Given the description of an element on the screen output the (x, y) to click on. 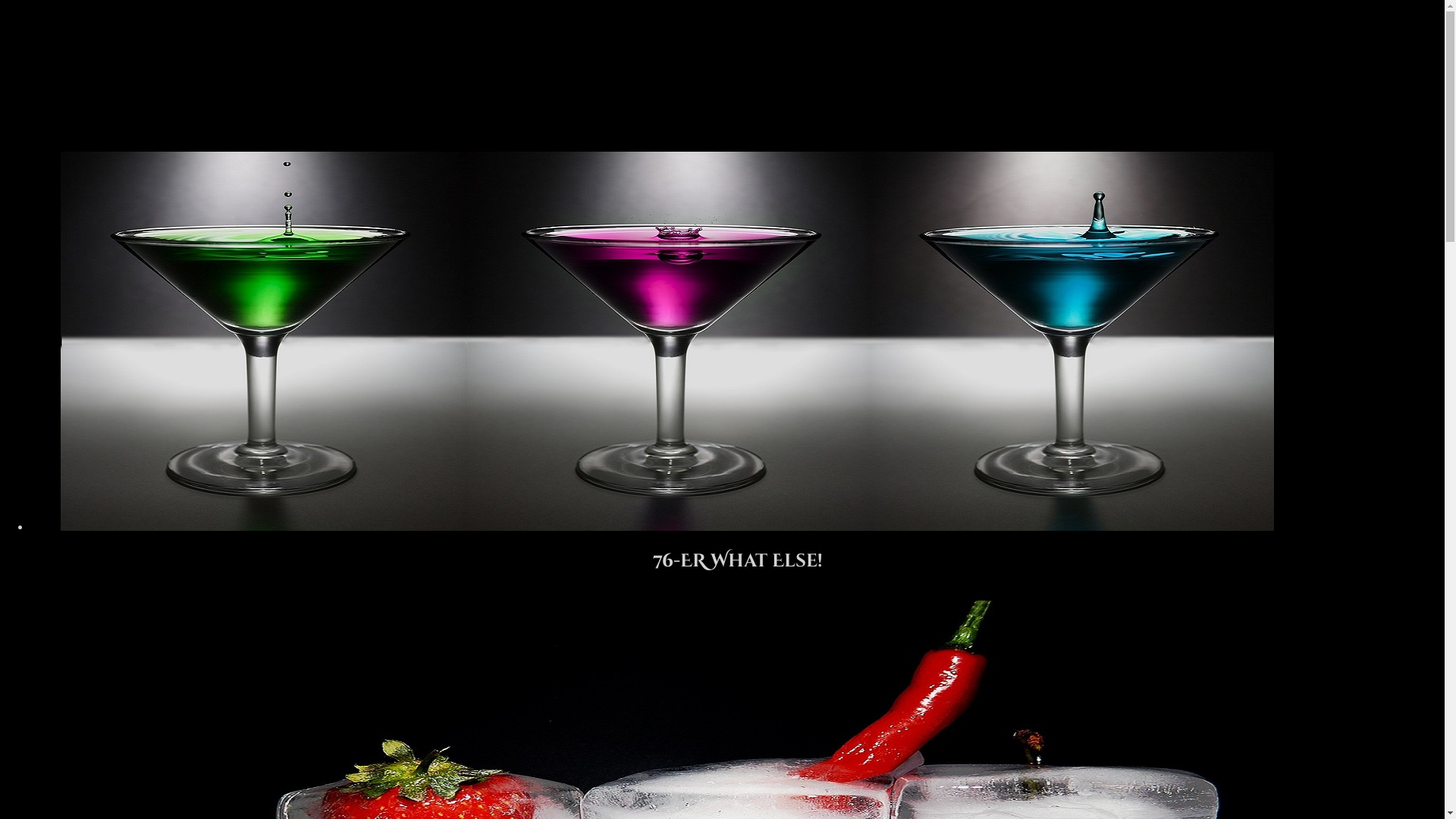
76-ER What Else! Element type: text (737, 554)
